Given the description of an element on the screen output the (x, y) to click on. 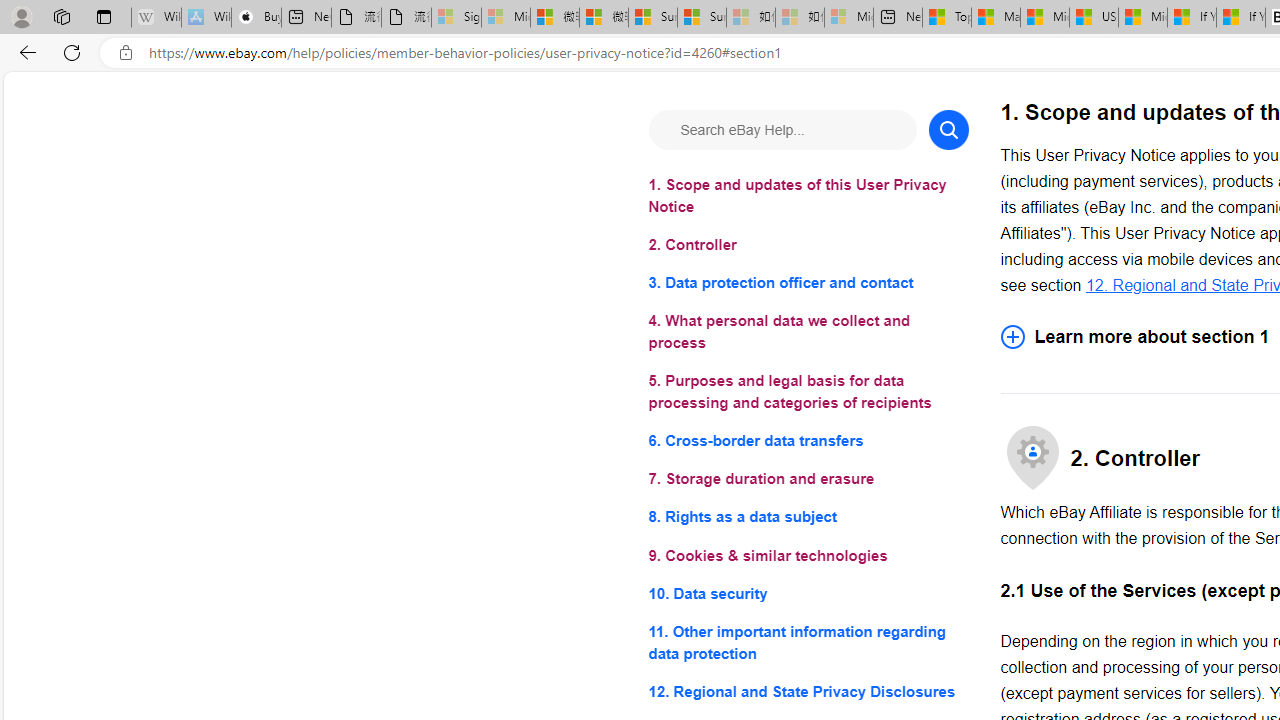
9. Cookies & similar technologies (807, 555)
